Given the description of an element on the screen output the (x, y) to click on. 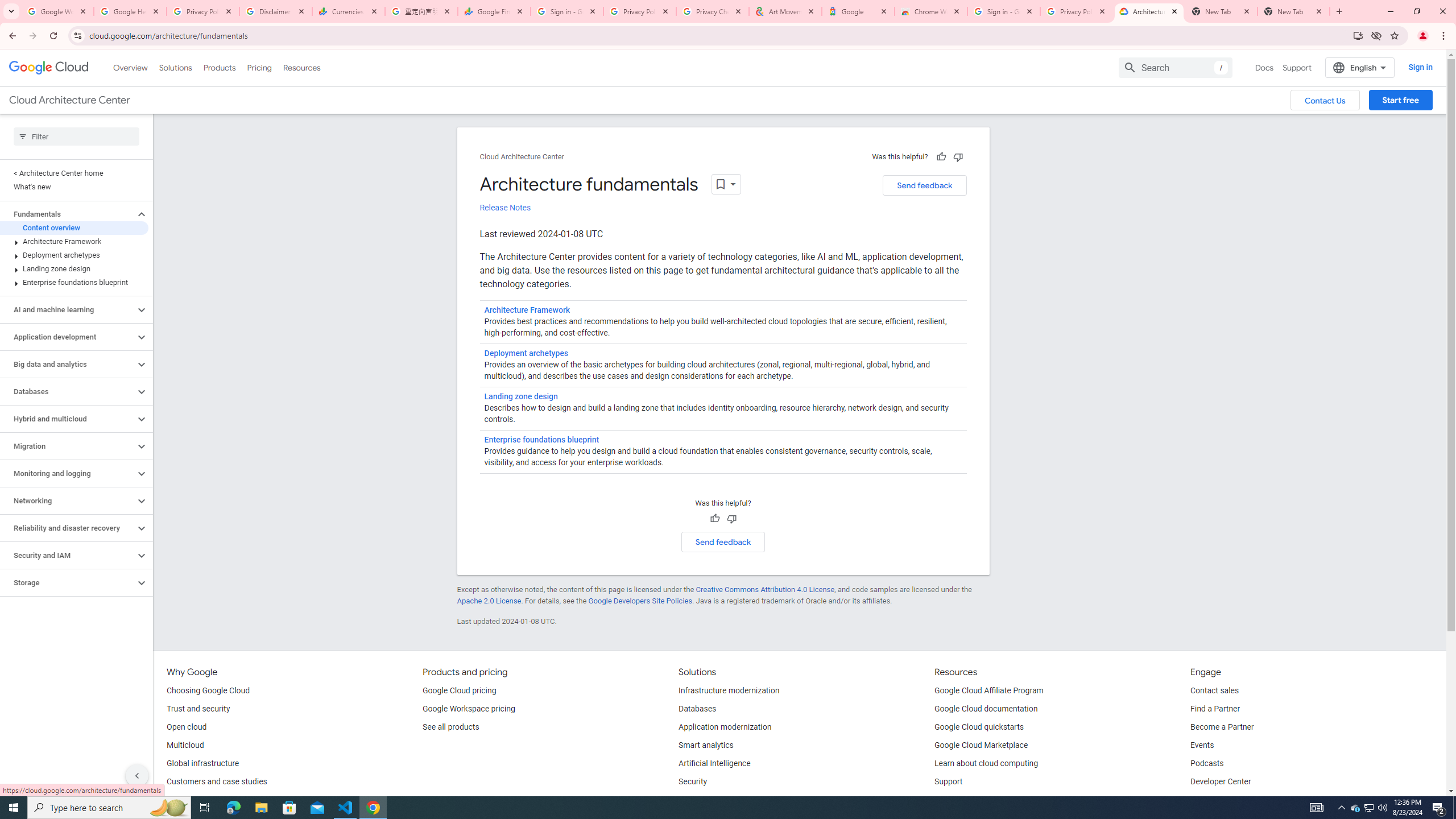
Landing zone design (520, 396)
Apache 2.0 License (489, 600)
Enterprise foundations blueprint (74, 282)
Artificial Intelligence (714, 764)
Install Google Cloud (1358, 35)
Google Developers Site Policies (639, 600)
Products (218, 67)
New Tab (1293, 11)
Databases (697, 709)
Find a Partner (1215, 709)
